Given the description of an element on the screen output the (x, y) to click on. 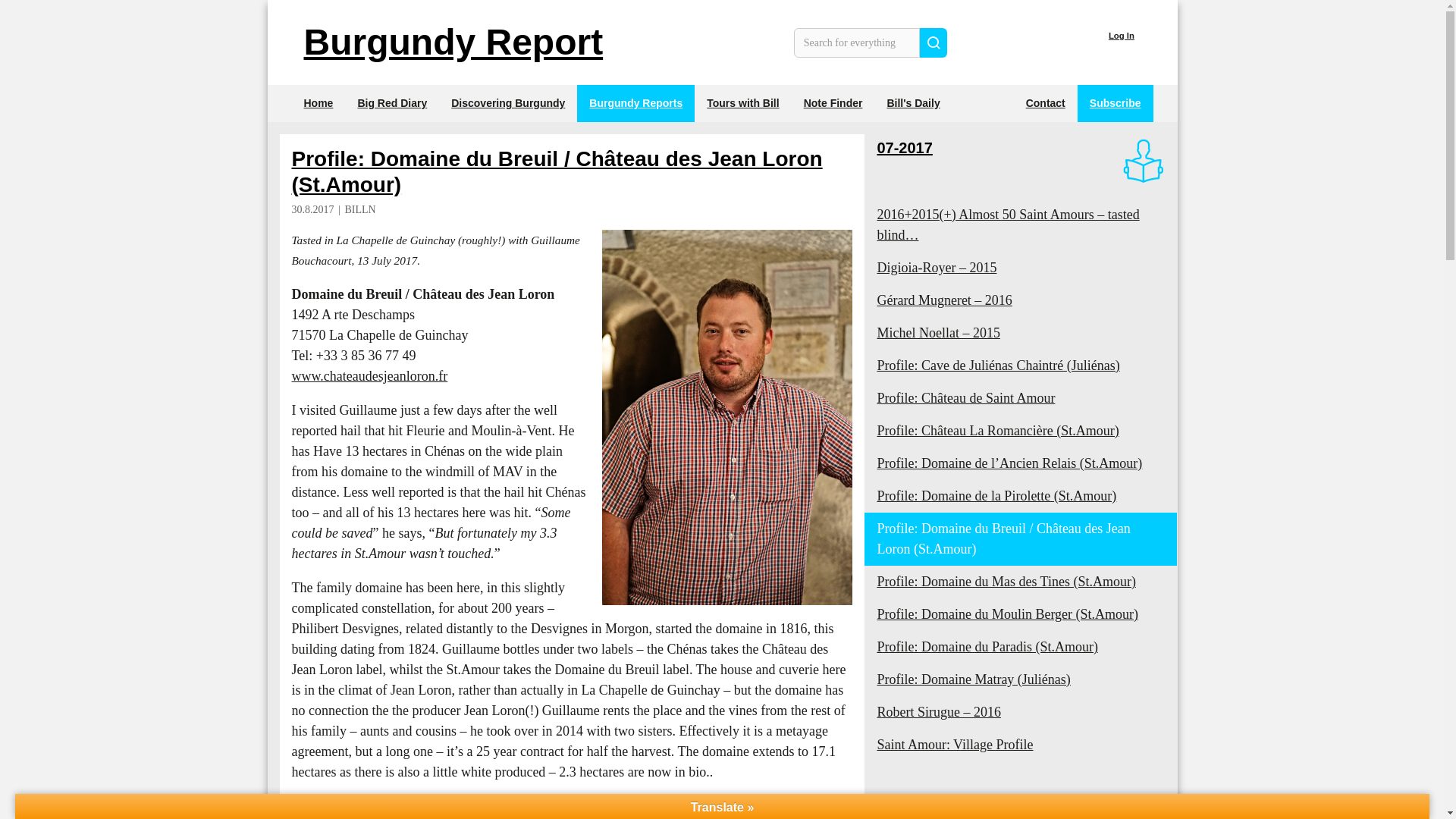
07-2017 (903, 147)
Discovering Burgundy (507, 103)
Home (318, 103)
BILLN (359, 209)
Bill's Daily (913, 103)
Saint Amour: Village Profile (1020, 744)
Tours with Bill (742, 103)
Big Red Diary (392, 103)
Burgundy Report (452, 42)
Burgundy Reports (635, 103)
www.chateaudesjeanloron.fr (368, 376)
Search (933, 41)
Note Finder (833, 103)
Back to 07-2017 index (949, 814)
Log In (1121, 35)
